Given the description of an element on the screen output the (x, y) to click on. 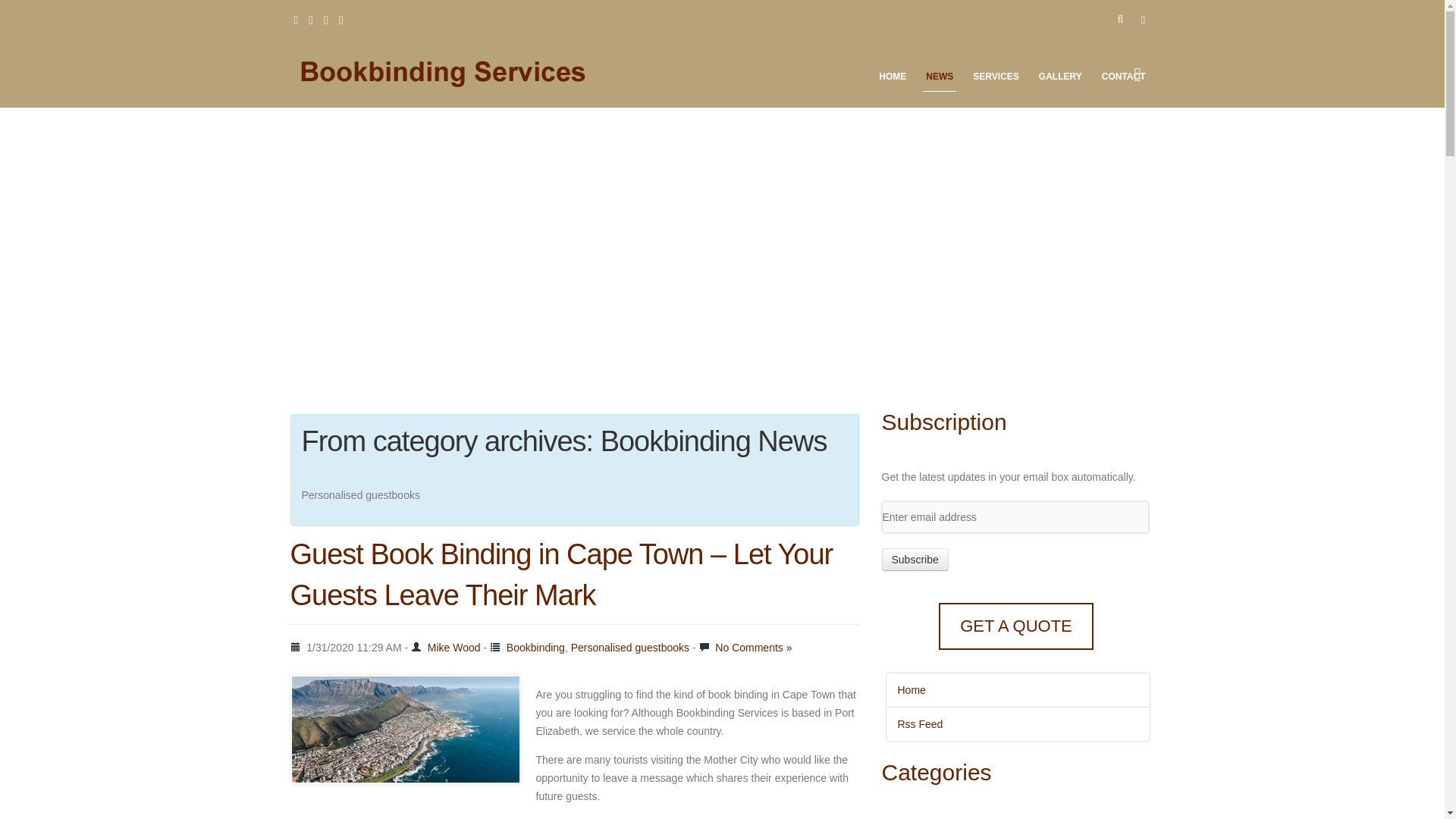
SERVICES (995, 79)
HOME (892, 79)
Linkedin (310, 19)
NEWS (939, 79)
Facebook (295, 19)
